Given the description of an element on the screen output the (x, y) to click on. 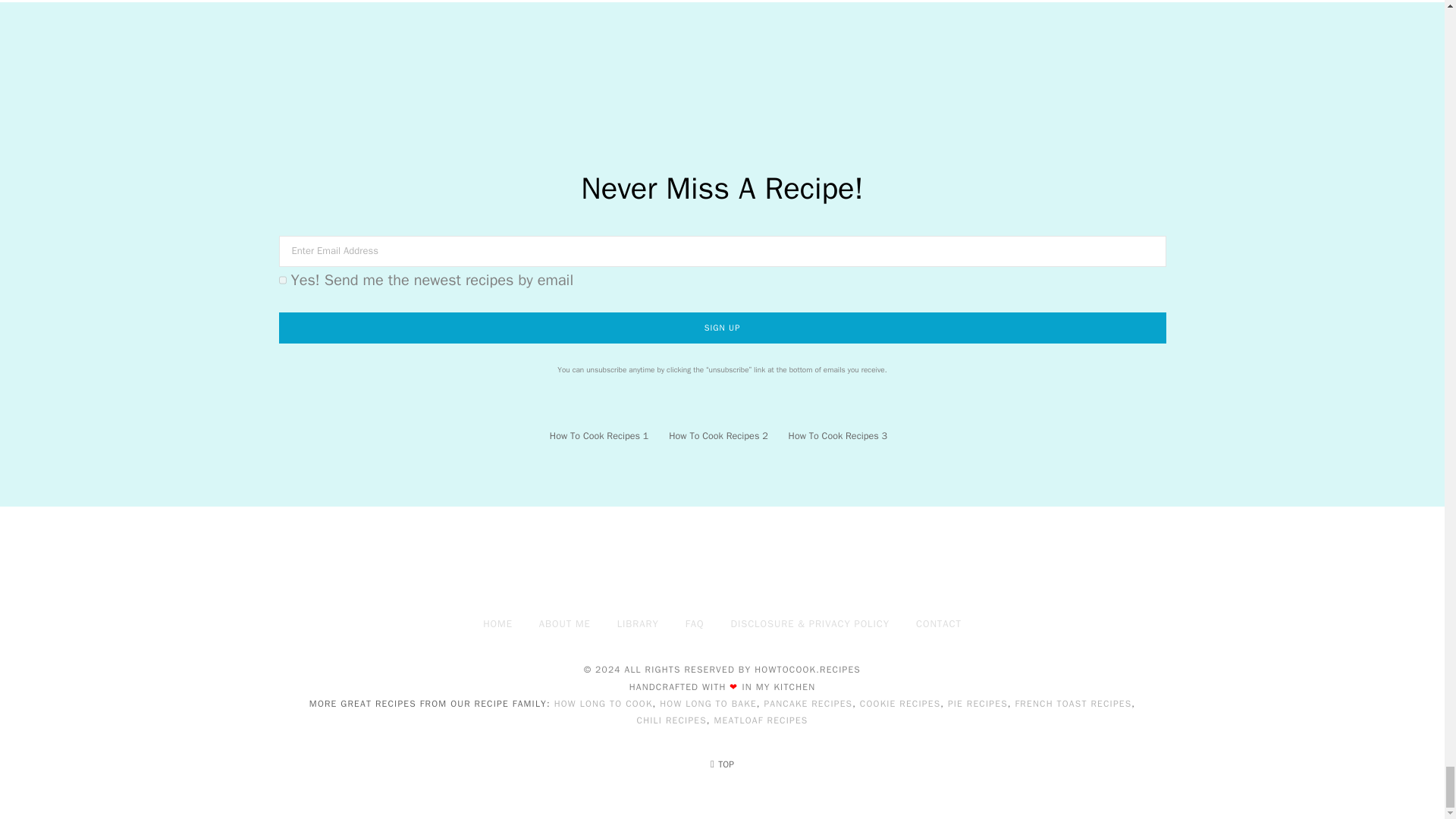
Sign up (722, 327)
